Given the description of an element on the screen output the (x, y) to click on. 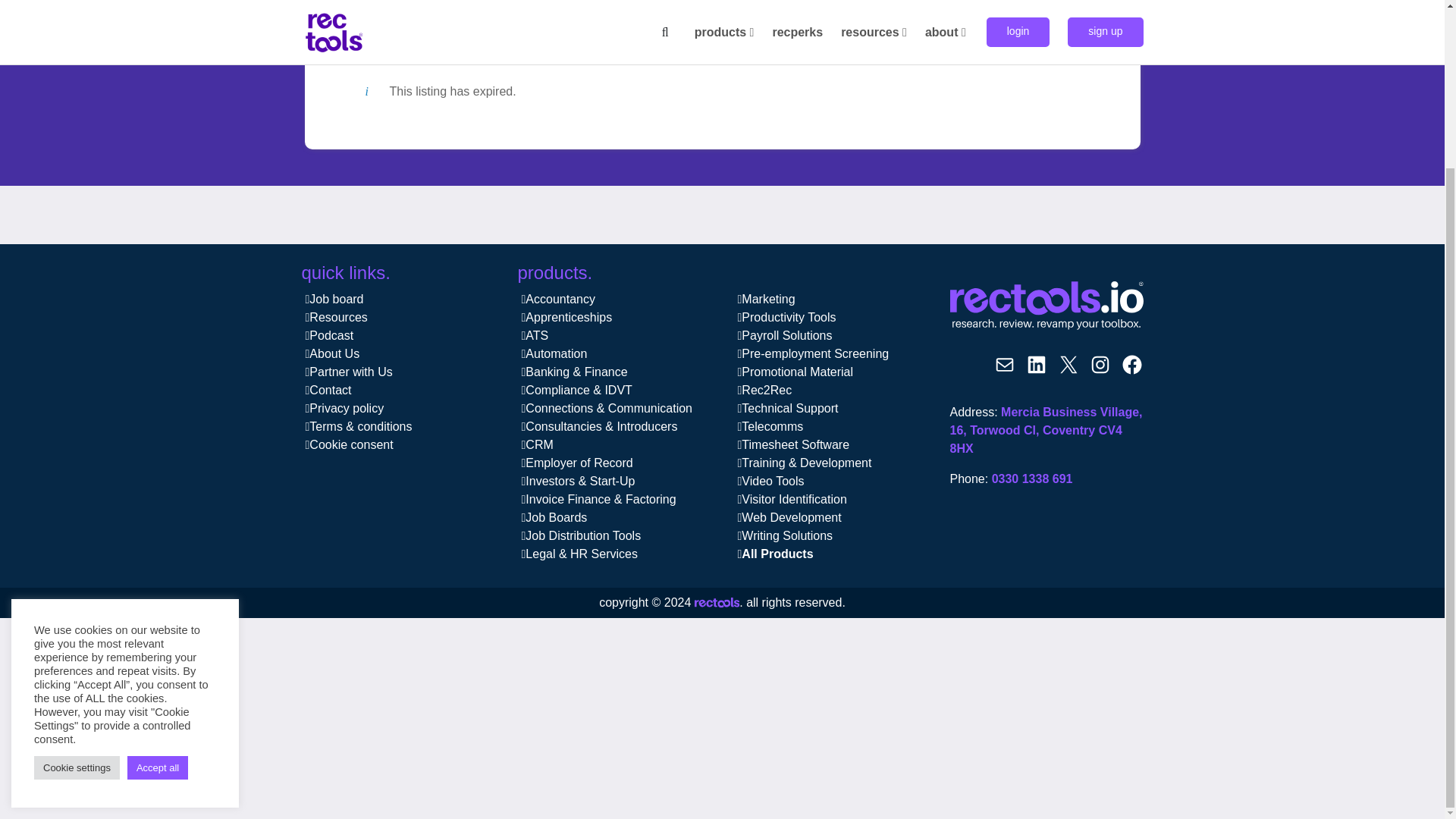
rectools.io (716, 603)
Rectools.io (1045, 305)
